Given the description of an element on the screen output the (x, y) to click on. 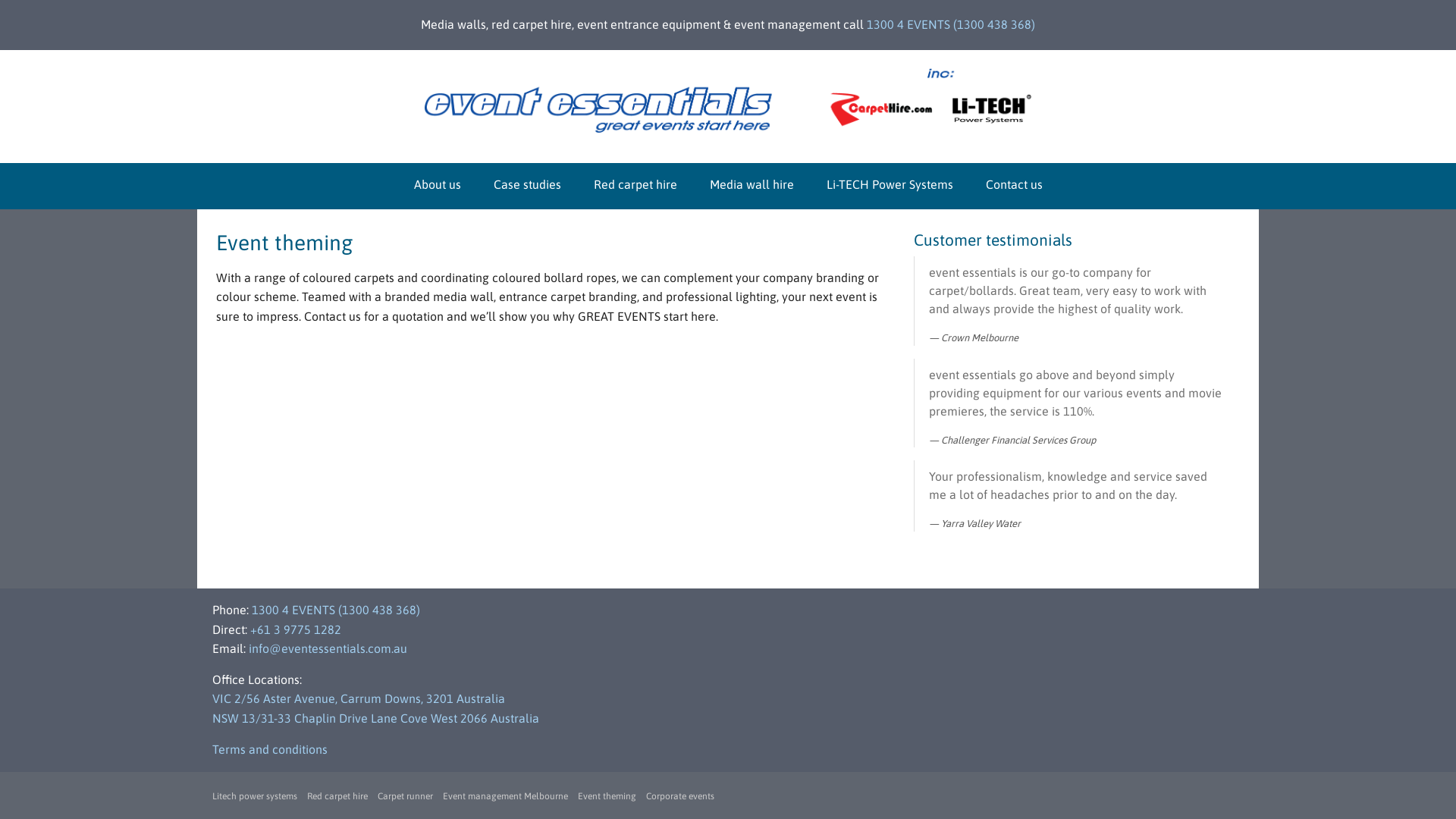
Case studies Element type: text (526, 184)
About us Element type: text (437, 184)
Li-TECH Power Systems Element type: text (889, 184)
1300 4 EVENTS (1300 438 368) Element type: text (950, 24)
Contact us Element type: text (1013, 184)
Red carpet hire Element type: text (337, 795)
VIC 2/56 Aster Avenue, Carrum Downs, 3201 Australia Element type: text (358, 698)
Litech power systems Element type: text (254, 795)
info@eventessentials.com.au Element type: text (327, 648)
Terms and conditions Element type: text (269, 749)
Corporate events Element type: text (680, 795)
1300 4 EVENTS (1300 438 368) Element type: text (335, 609)
Carpet runner Element type: text (405, 795)
+61 3 9775 1282 Element type: text (295, 629)
Event management Melbourne Element type: text (504, 795)
Event theming Element type: text (606, 795)
NSW 13/31-33 Chaplin Drive Lane Cove West 2066 Australia Element type: text (375, 717)
Media wall hire Element type: text (751, 184)
Red carpet hire Element type: text (634, 184)
